Given the description of an element on the screen output the (x, y) to click on. 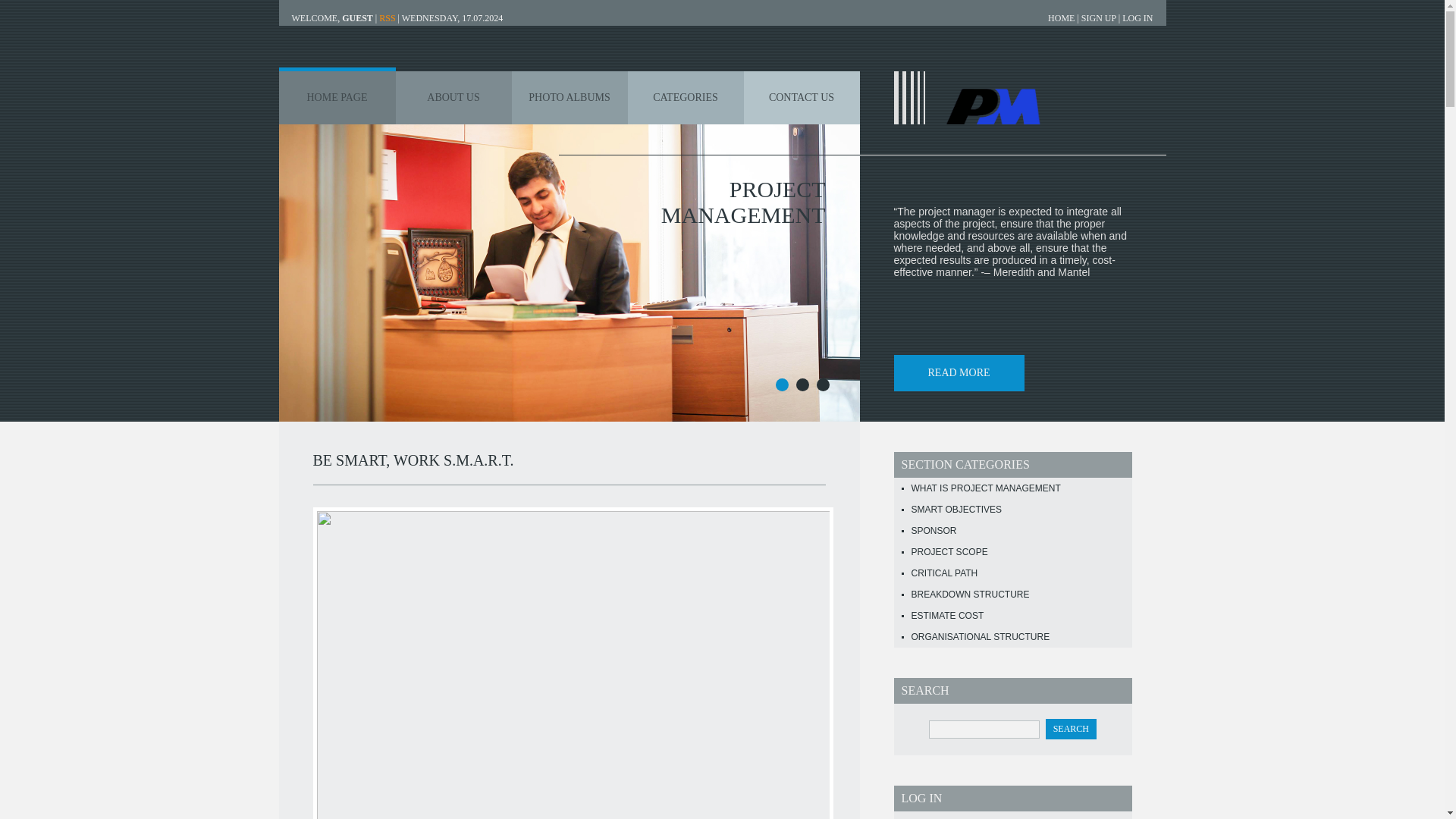
BE SMART, WORK S.M.A.R.T. (413, 460)
HOME (1061, 18)
SIGN UP (1098, 18)
READ MORE (958, 372)
ABOUT US (454, 97)
LOG IN (1137, 18)
CONTACT US (800, 97)
PHOTO ALBUMS (569, 97)
Search (1070, 729)
CATEGORIES (685, 97)
HOME PAGE (337, 97)
2 (802, 384)
1 (780, 384)
Log In (1137, 18)
3 (821, 384)
